Given the description of an element on the screen output the (x, y) to click on. 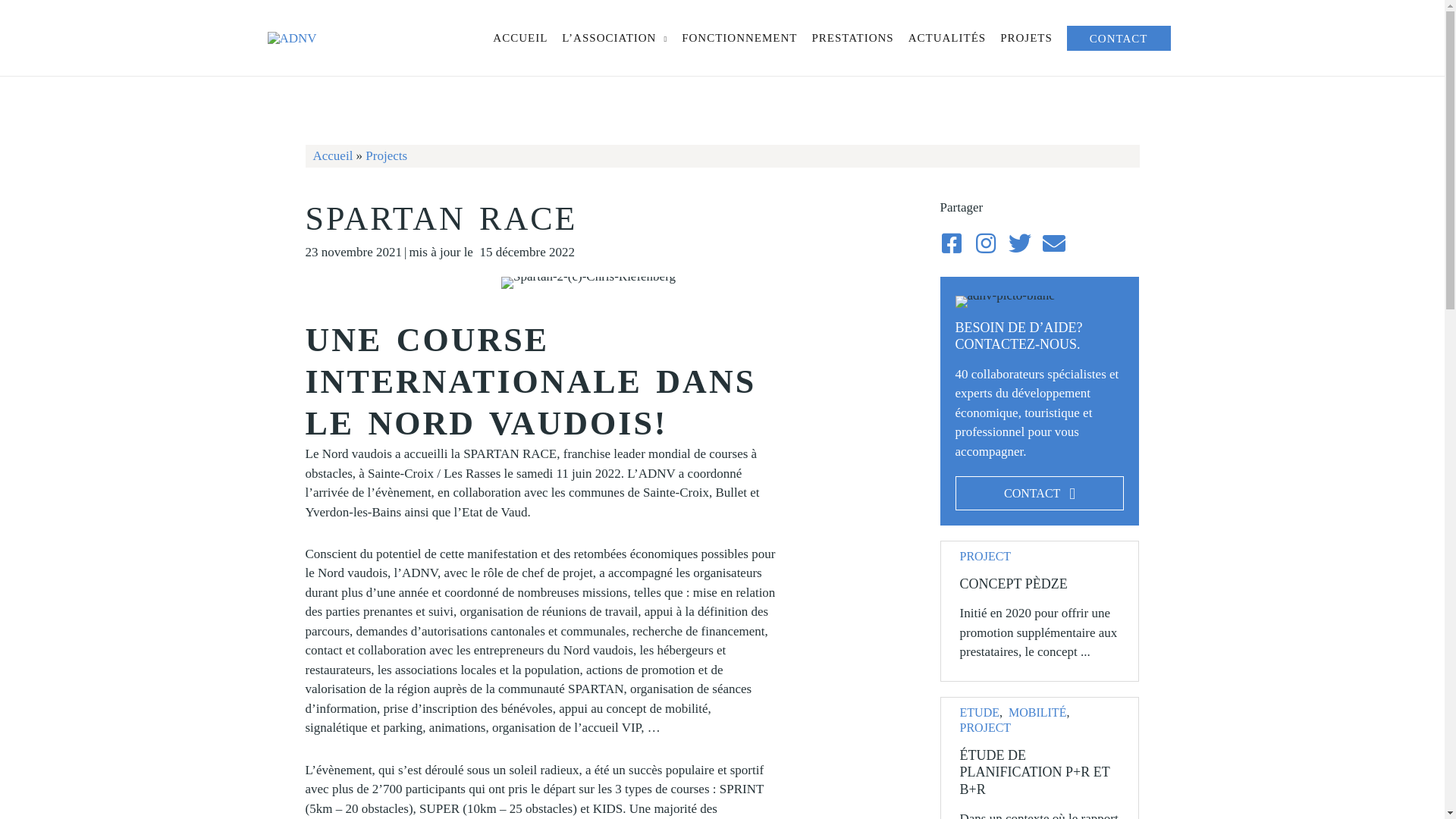
ACCUEIL Element type: text (519, 37)
PROJETS Element type: text (1025, 37)
PRESTATIONS Element type: text (852, 37)
PROJECT Element type: text (985, 727)
Accueil Element type: text (332, 156)
PROJECT Element type: text (985, 555)
FONCTIONNEMENT Element type: text (738, 37)
Projects Element type: text (386, 156)
Spartan-2-(c)-Chris-Riefenberg Element type: hover (588, 282)
CONTACT Element type: text (1039, 493)
ETUDE Element type: text (979, 712)
CONTACT Element type: text (1118, 37)
adnv-picto-blanc Element type: hover (1004, 301)
